Given the description of an element on the screen output the (x, y) to click on. 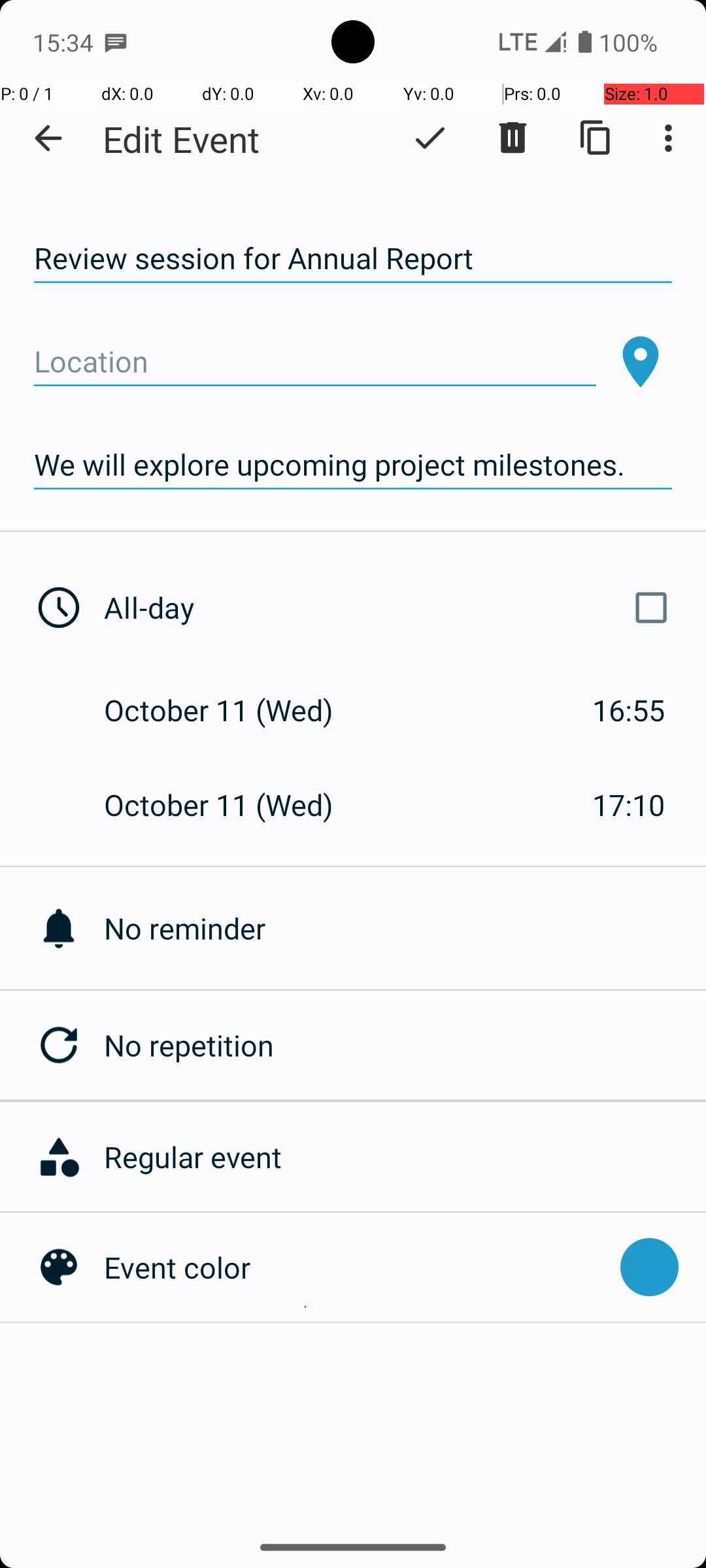
We will explore upcoming project milestones. Element type: android.widget.EditText (352, 465)
October 11 (Wed) Element type: android.widget.TextView (232, 709)
16:55 Element type: android.widget.TextView (628, 709)
17:10 Element type: android.widget.TextView (628, 804)
